Given the description of an element on the screen output the (x, y) to click on. 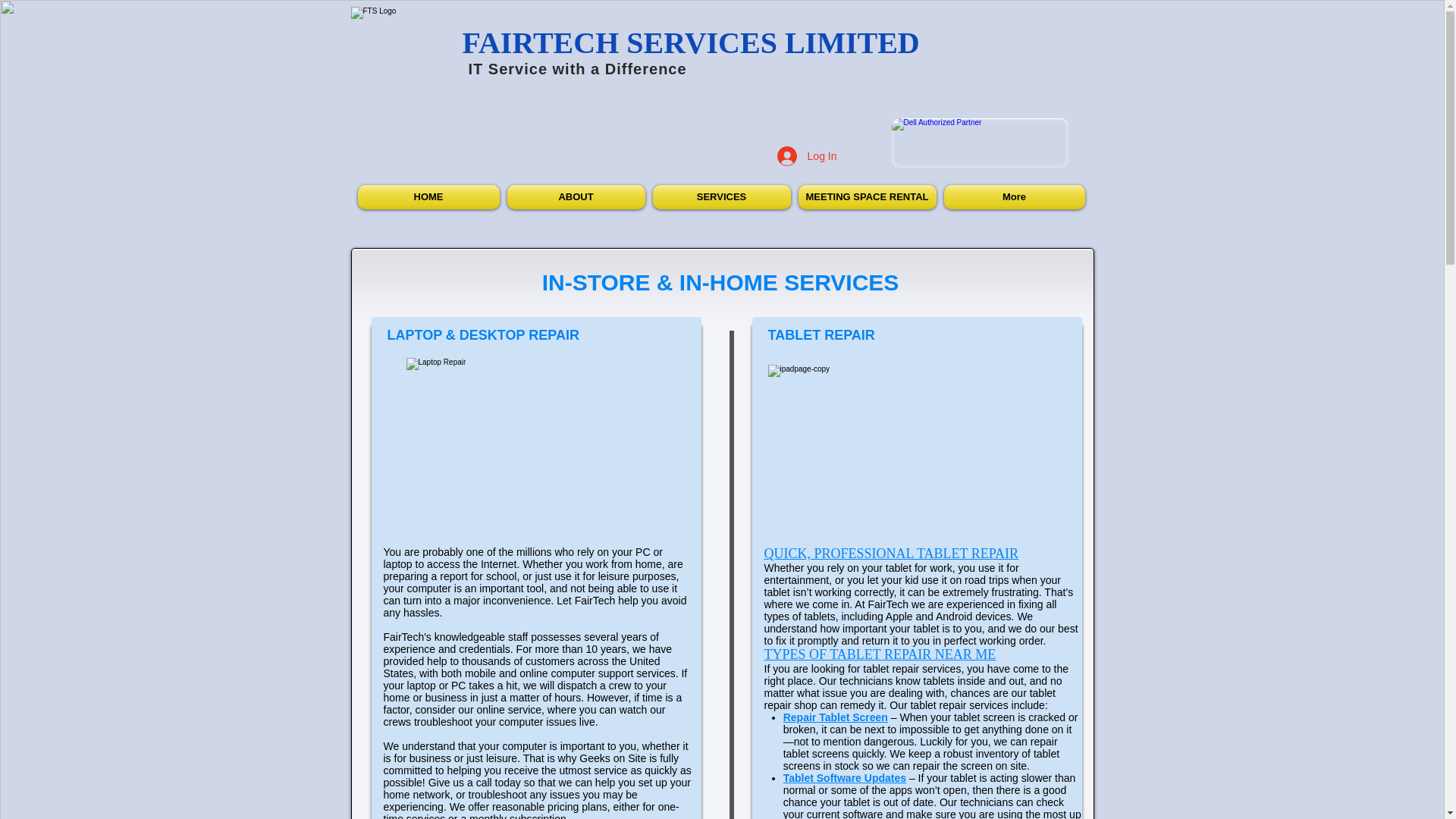
Log In (807, 155)
HOME (430, 197)
Computer image.png (524, 447)
Computer image.png (914, 429)
ABOUT (576, 197)
MEETING SPACE RENTAL (867, 197)
SERVICES (721, 197)
